Given the description of an element on the screen output the (x, y) to click on. 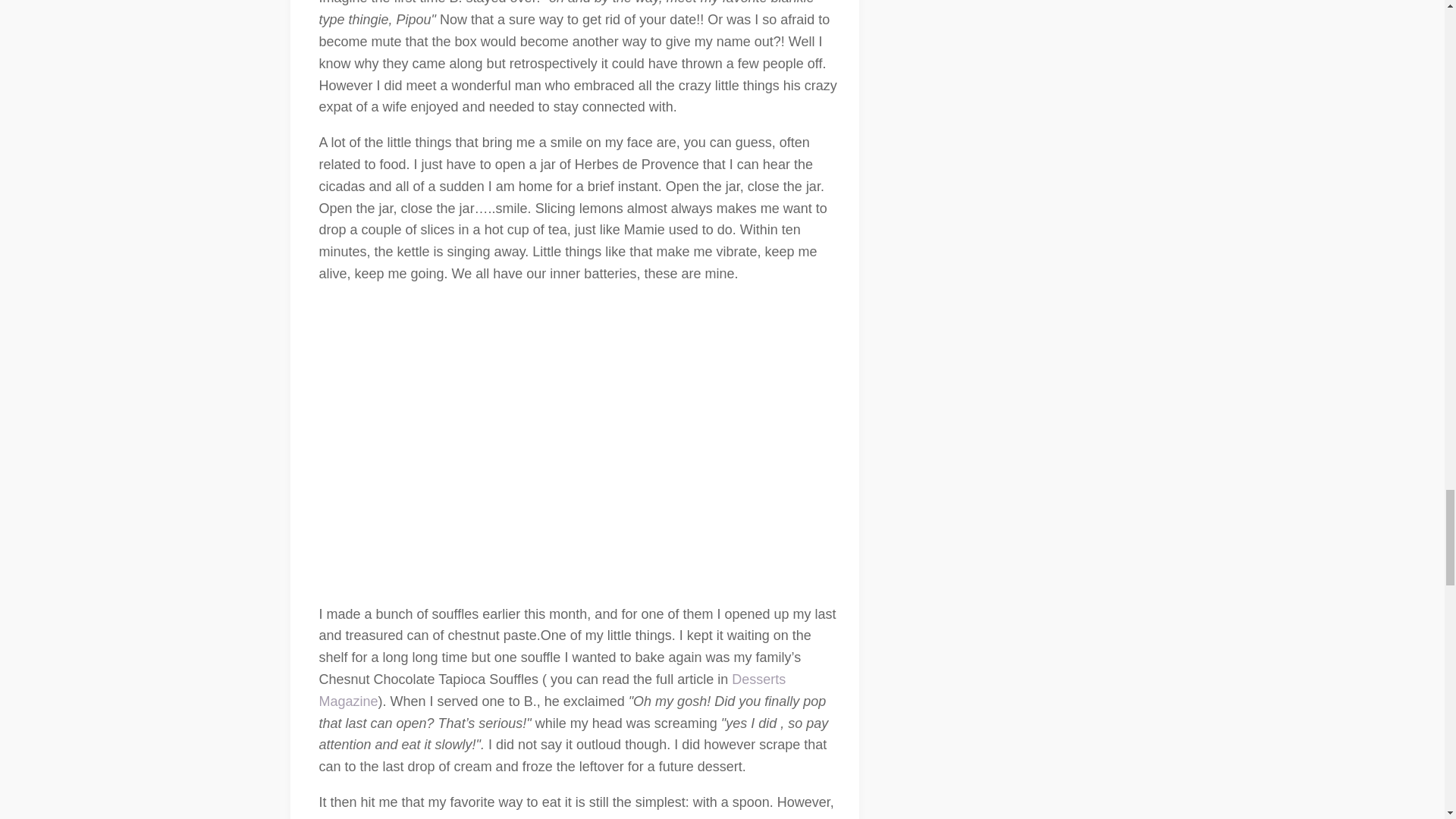
Desserts Magazine (552, 690)
